Given the description of an element on the screen output the (x, y) to click on. 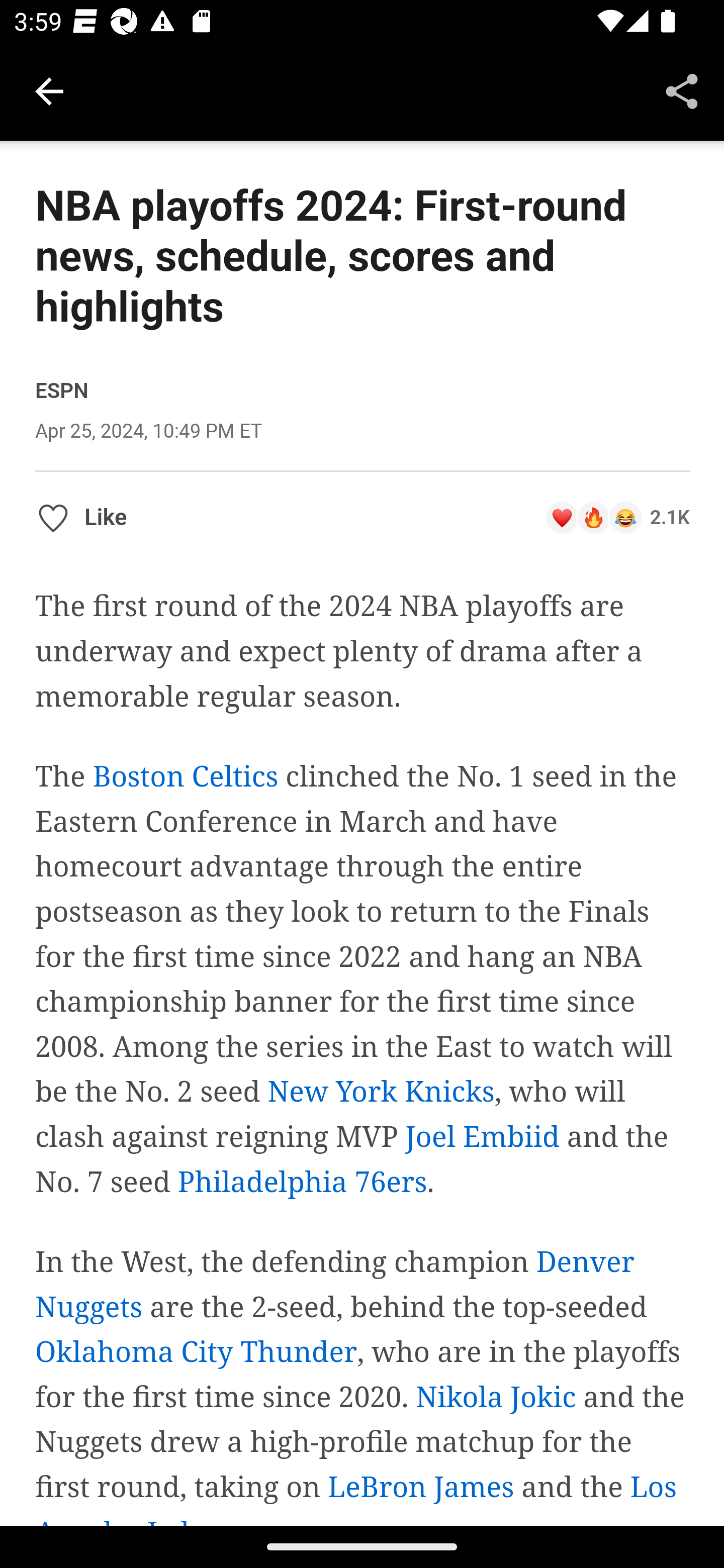
Navigate up (49, 91)
Share (681, 90)
